Given the description of an element on the screen output the (x, y) to click on. 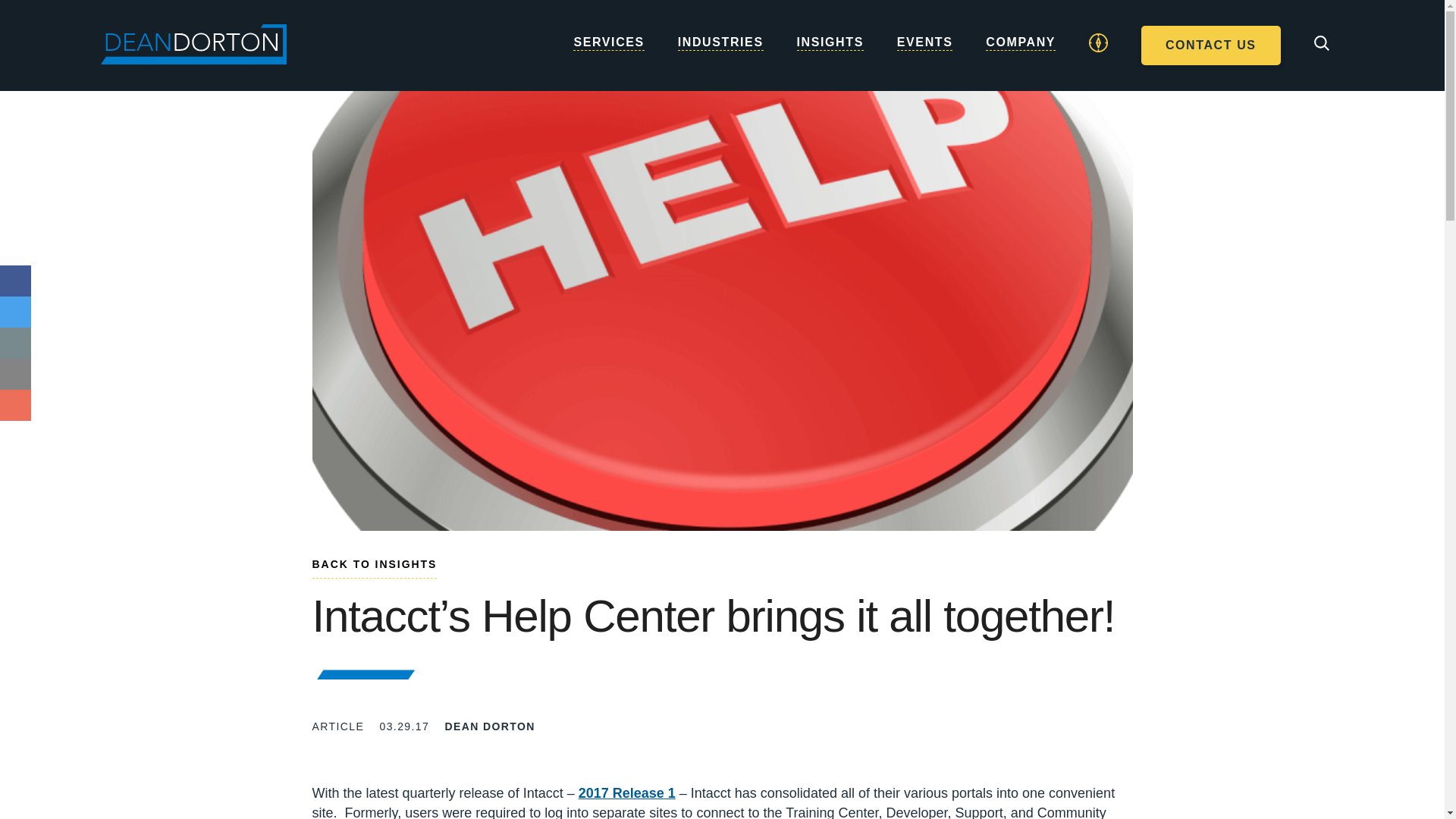
SERVICES (608, 57)
Go to Insights. (375, 567)
